Given the description of an element on the screen output the (x, y) to click on. 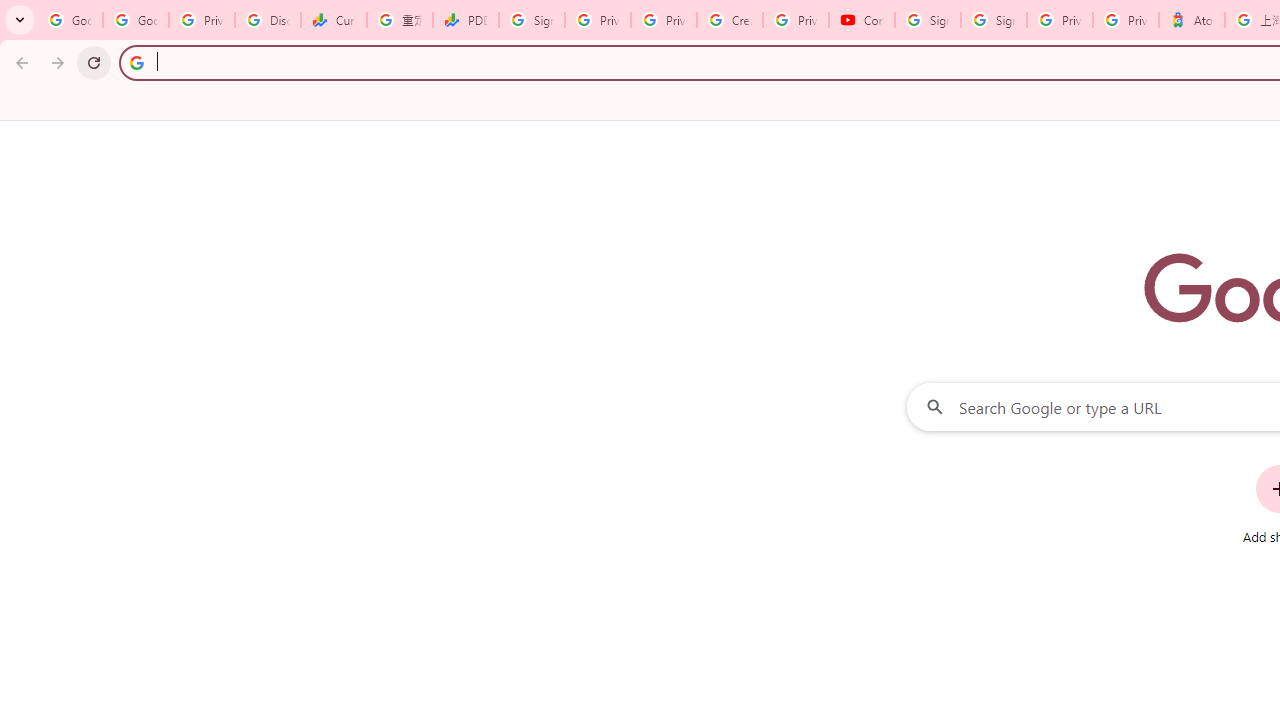
Privacy Checkup (664, 20)
Content Creator Programs & Opportunities - YouTube Creators (861, 20)
Atour Hotel - Google hotels (1191, 20)
